Given the description of an element on the screen output the (x, y) to click on. 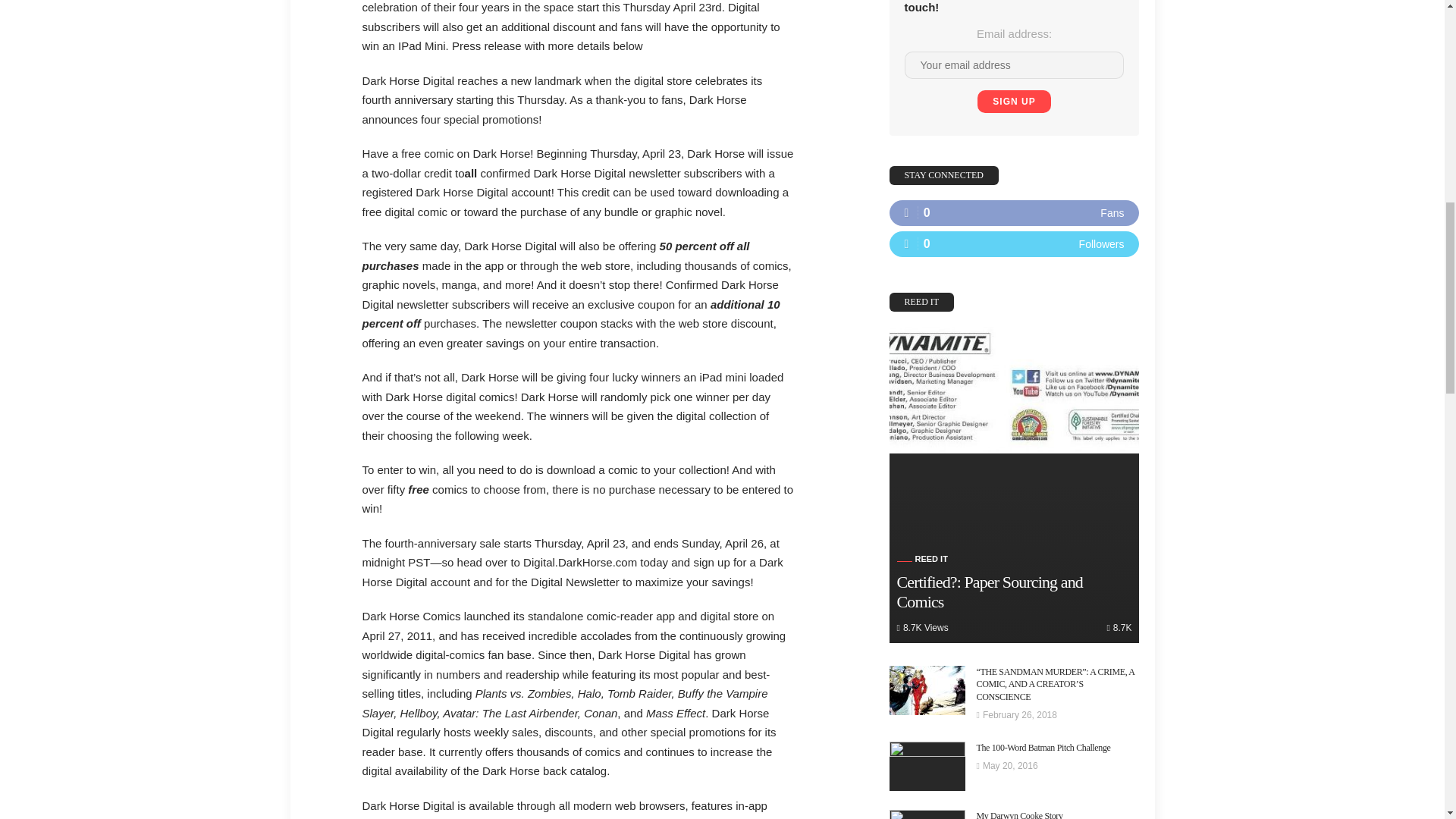
Sign up (1012, 101)
